Given the description of an element on the screen output the (x, y) to click on. 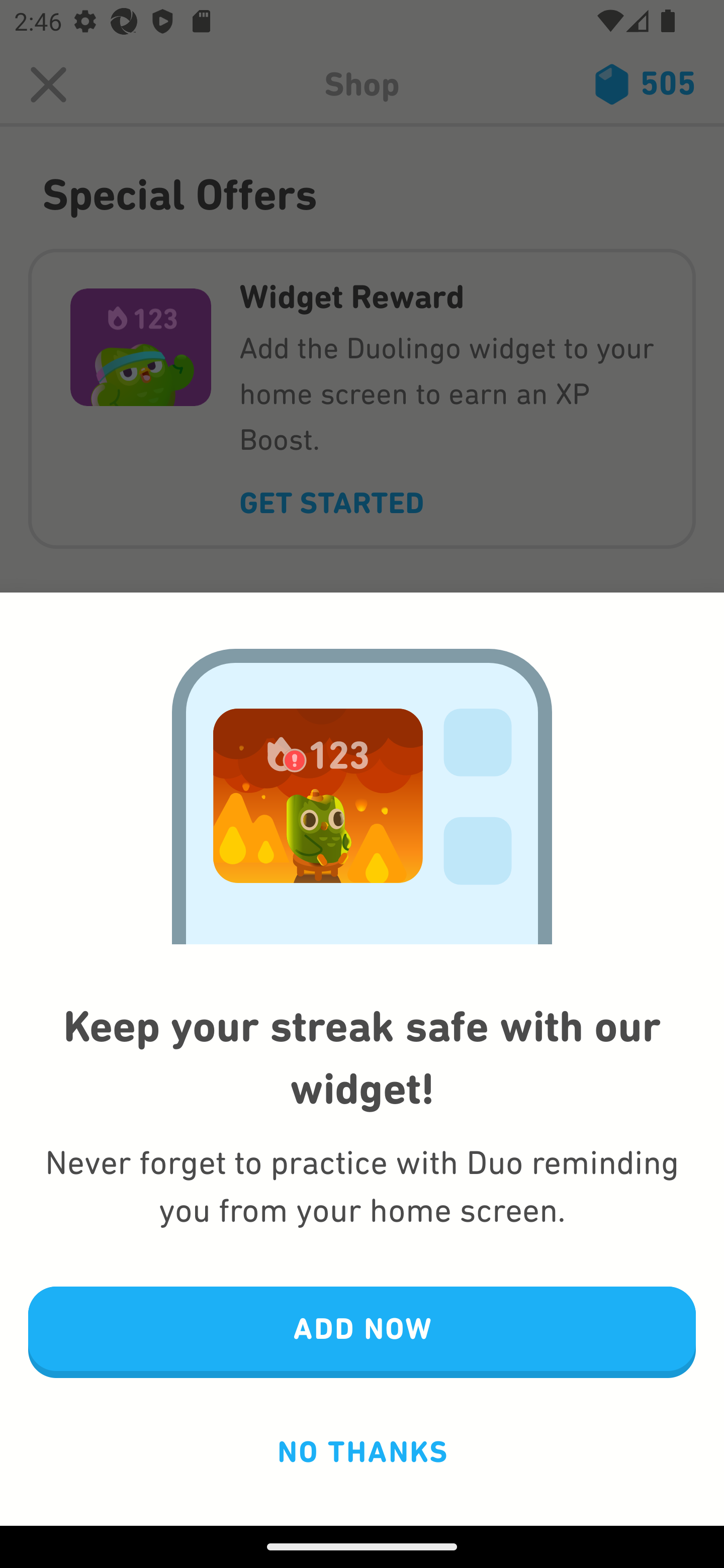
ADD NOW (361, 1332)
NO THANKS (361, 1451)
